Given the description of an element on the screen output the (x, y) to click on. 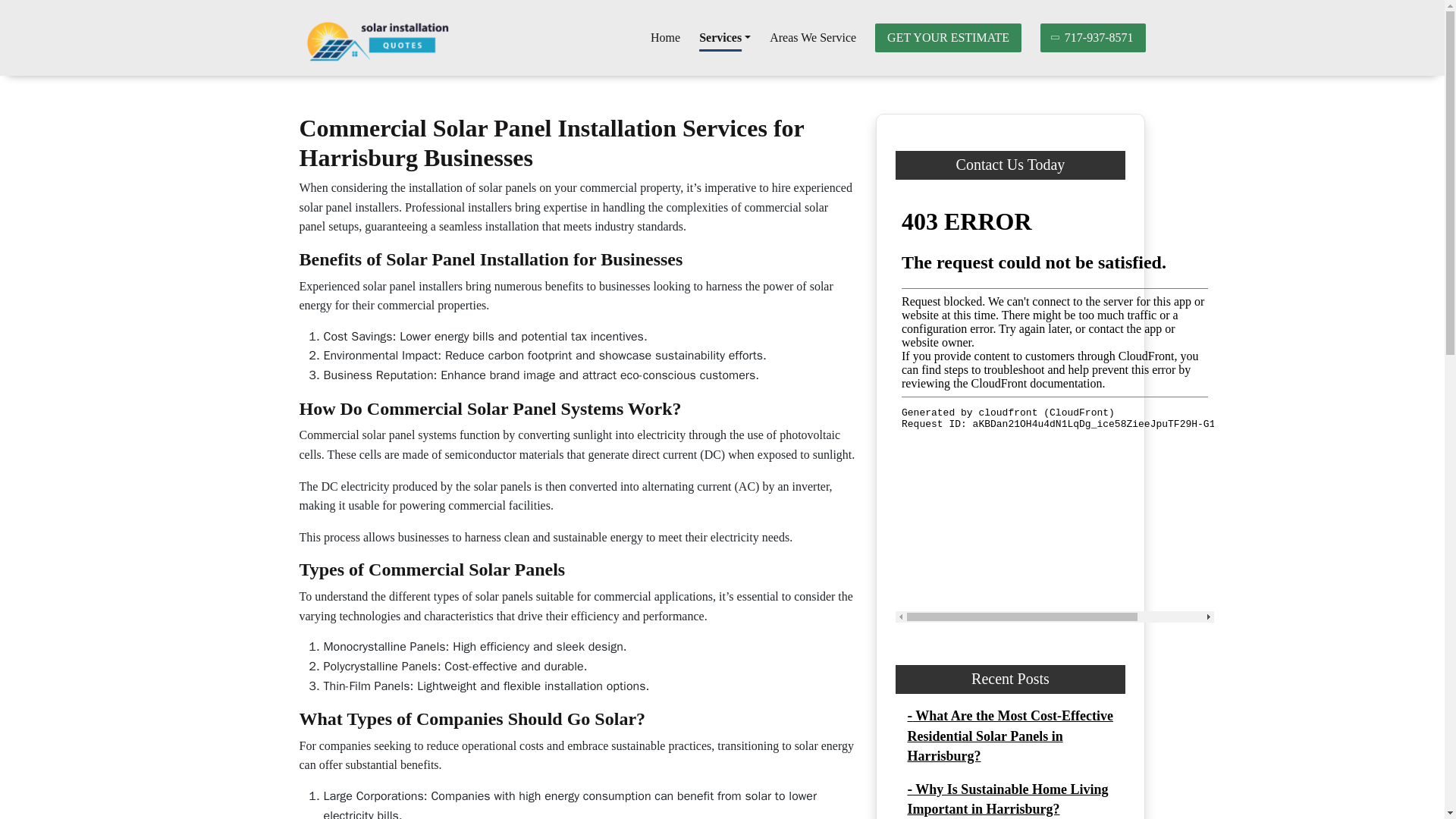
Home (664, 38)
Areas We Service (813, 38)
717-937-8571 (1093, 37)
Areas We Service (813, 38)
GET YOUR ESTIMATE (948, 37)
- Why Is Sustainable Home Living Important in Harrisburg? (1007, 799)
Services (724, 38)
Home (664, 38)
Services (724, 38)
